Given the description of an element on the screen output the (x, y) to click on. 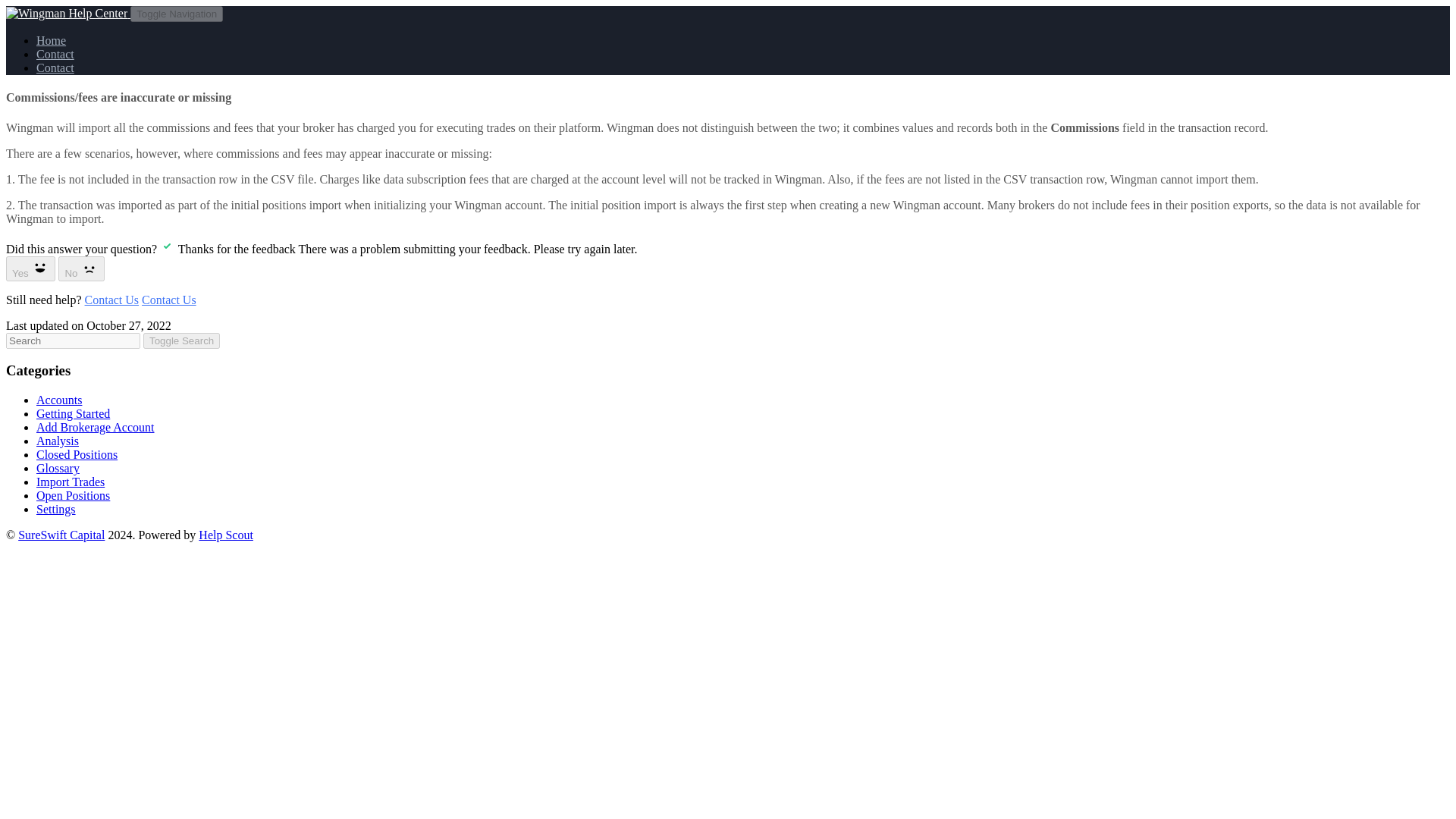
Contact Us (111, 299)
No (81, 268)
Add Brokerage Account (95, 427)
Import Trades (70, 481)
Open Positions (73, 495)
Toggle Navigation (176, 13)
Glossary (58, 468)
Contact (55, 67)
Toggle Search (180, 340)
Yes (30, 268)
